Given the description of an element on the screen output the (x, y) to click on. 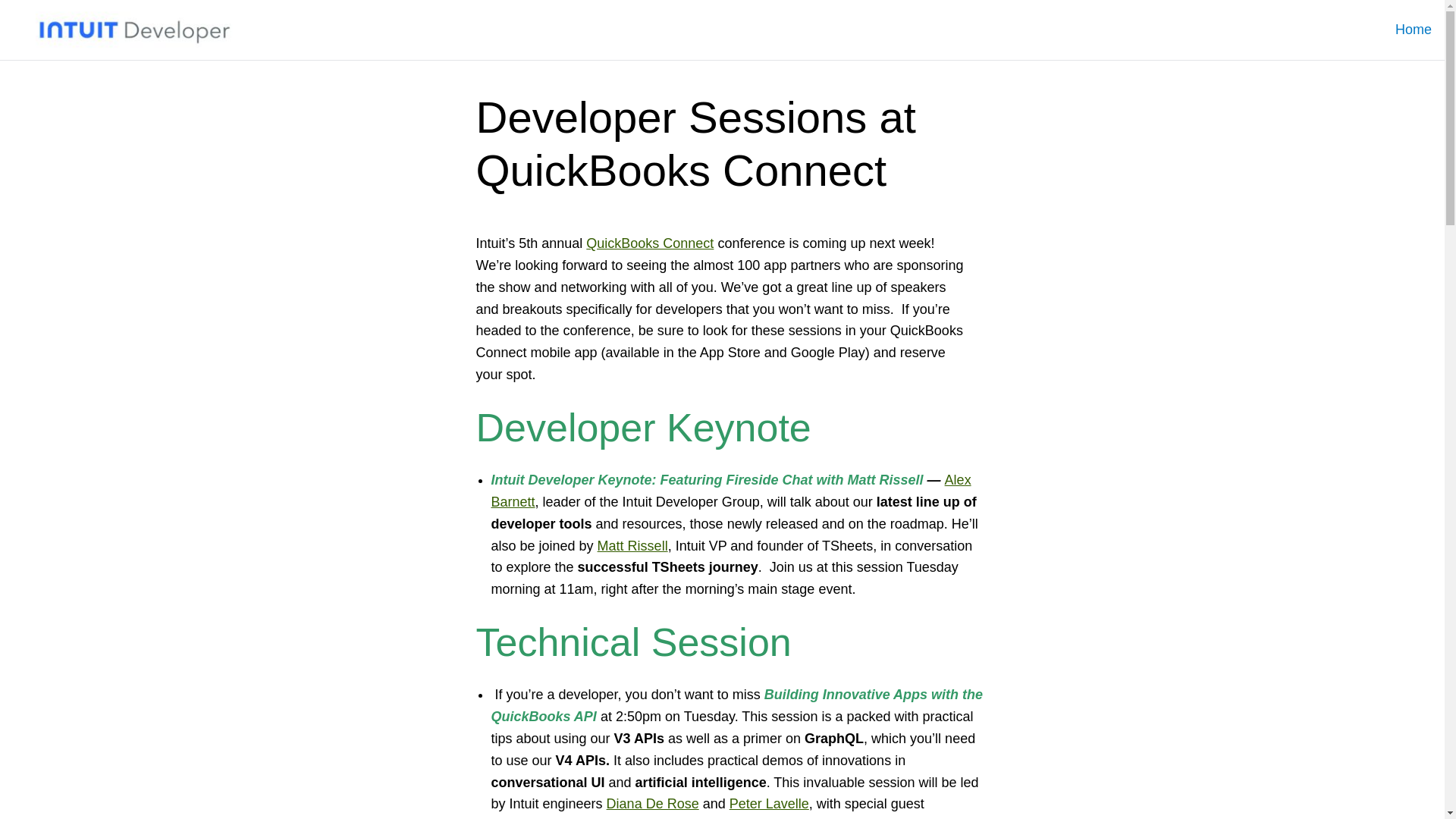
Home (1412, 29)
Diana De Rose (652, 803)
Alex Barnett (731, 490)
Peter Lavelle (769, 803)
QuickBooks Connect (649, 242)
Matt Rissell (632, 545)
